Given the description of an element on the screen output the (x, y) to click on. 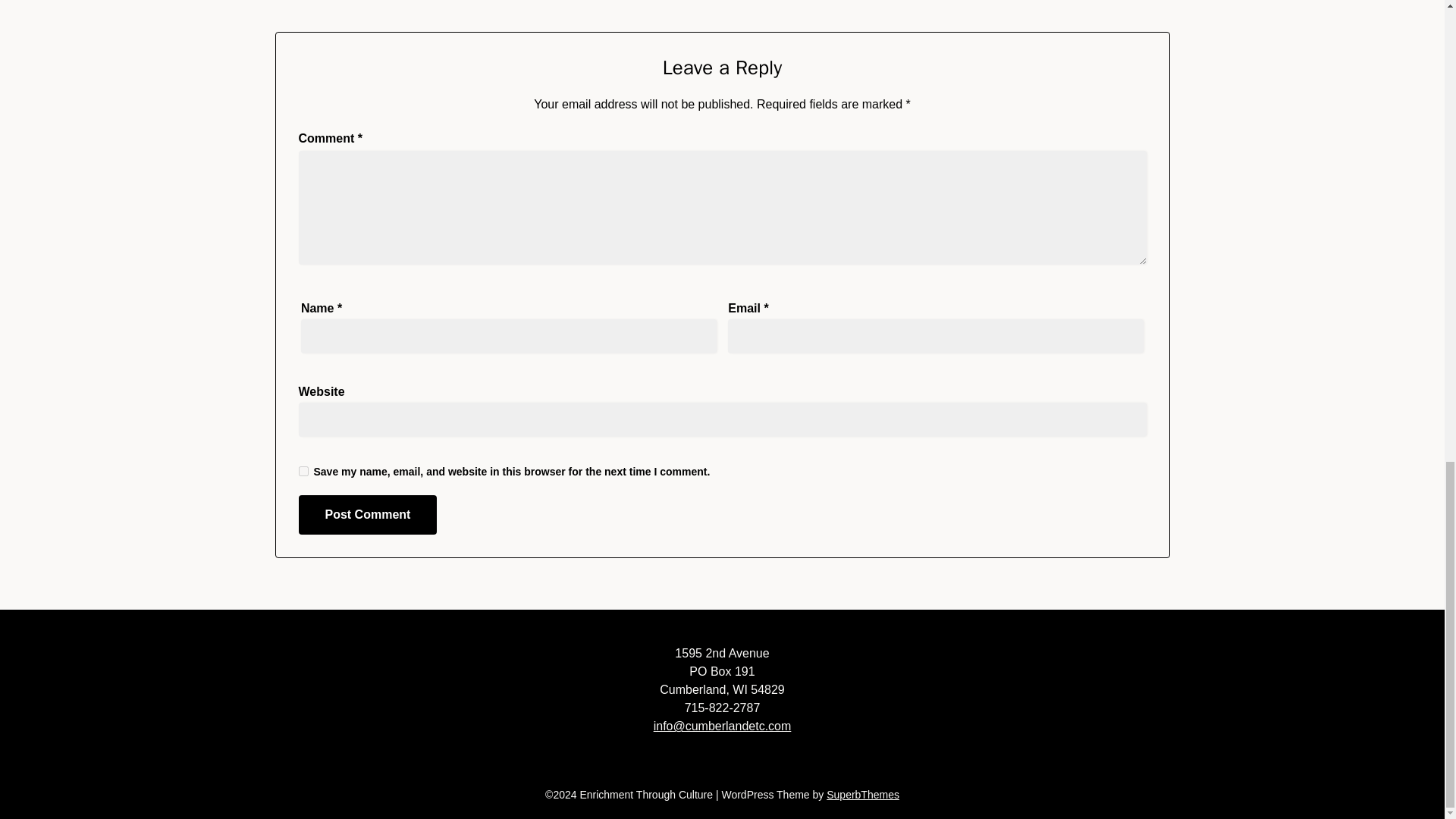
Post Comment (368, 514)
yes (303, 470)
Post Comment (368, 514)
SuperbThemes (863, 794)
